Given the description of an element on the screen output the (x, y) to click on. 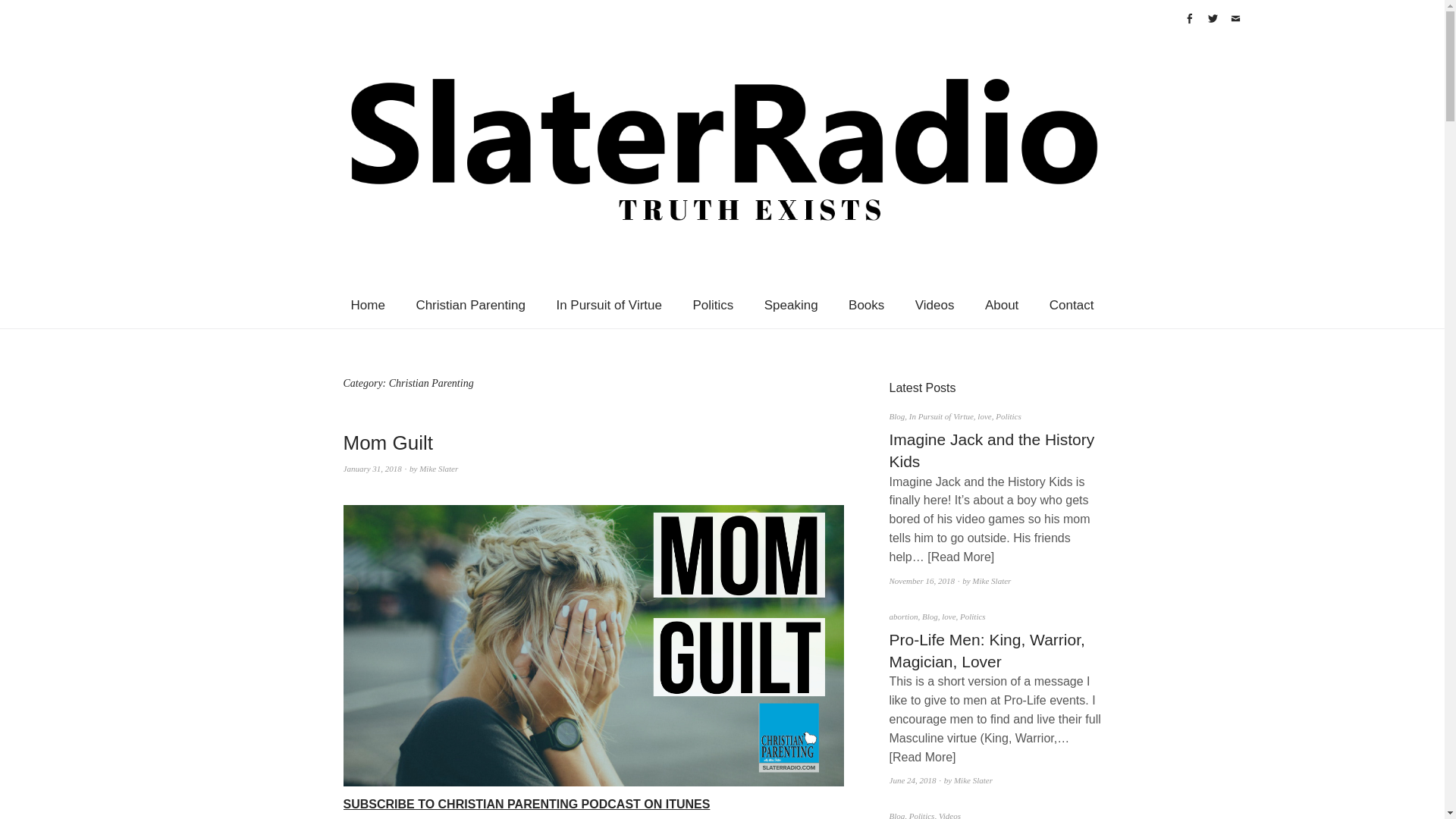
About (1001, 304)
Contact (1071, 304)
All posts by Mike Slater (438, 468)
Videos (934, 304)
Mail (1235, 18)
Home (367, 304)
All posts by Mike Slater (972, 779)
Books (866, 304)
Christian Parenting (469, 304)
Twitter (1212, 18)
Speaking (791, 304)
Mike Slater (438, 468)
All posts by Mike Slater (991, 580)
In Pursuit of Virtue (608, 304)
Facebook (1189, 18)
